Given the description of an element on the screen output the (x, y) to click on. 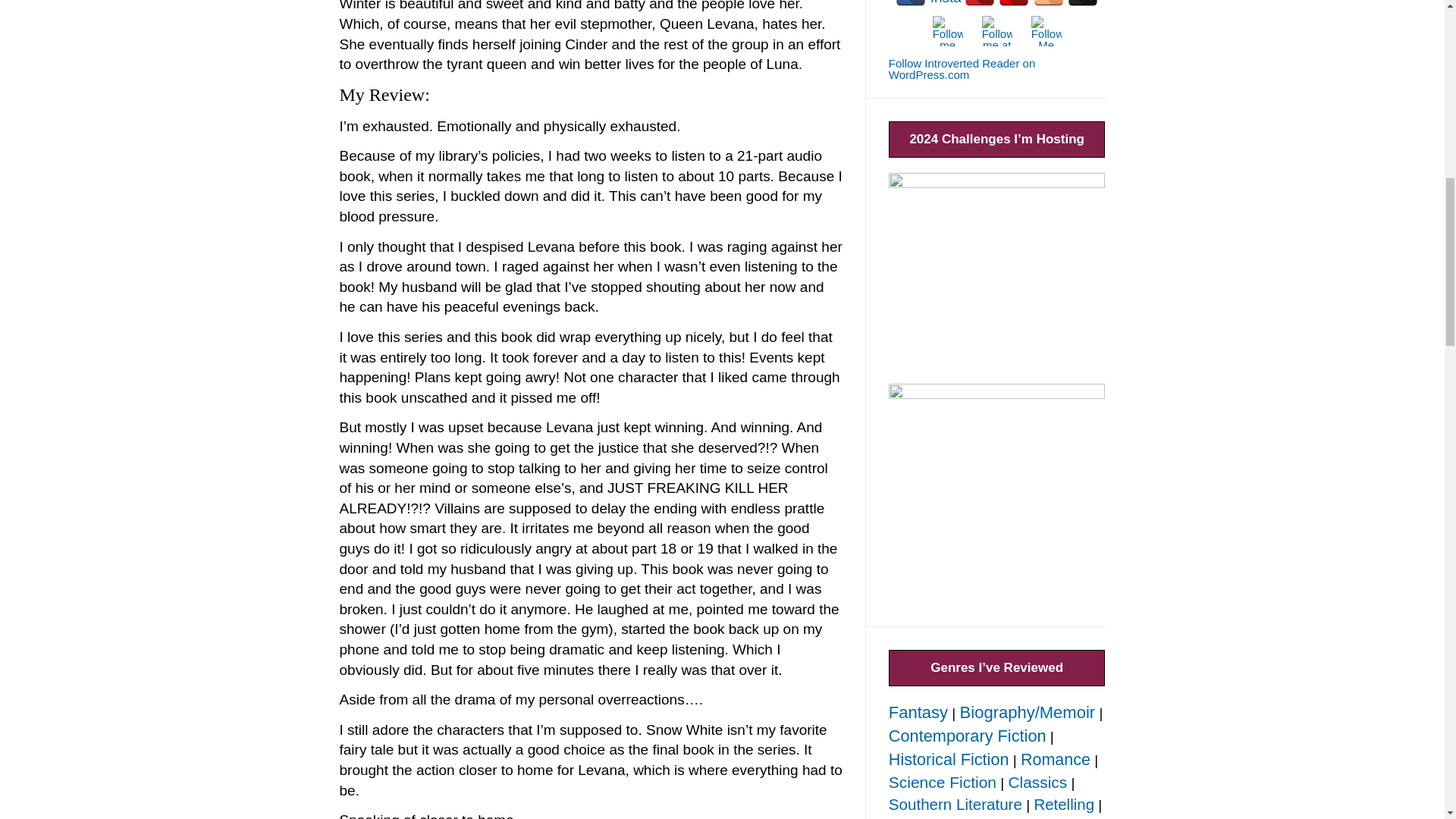
BookBub (1013, 2)
Goodreads (1048, 2)
Pinterest (978, 2)
Mastodon (947, 30)
Bloglovin (1082, 2)
Instagram (945, 2)
LibraryThing (996, 30)
Facebook (910, 2)
